Given the description of an element on the screen output the (x, y) to click on. 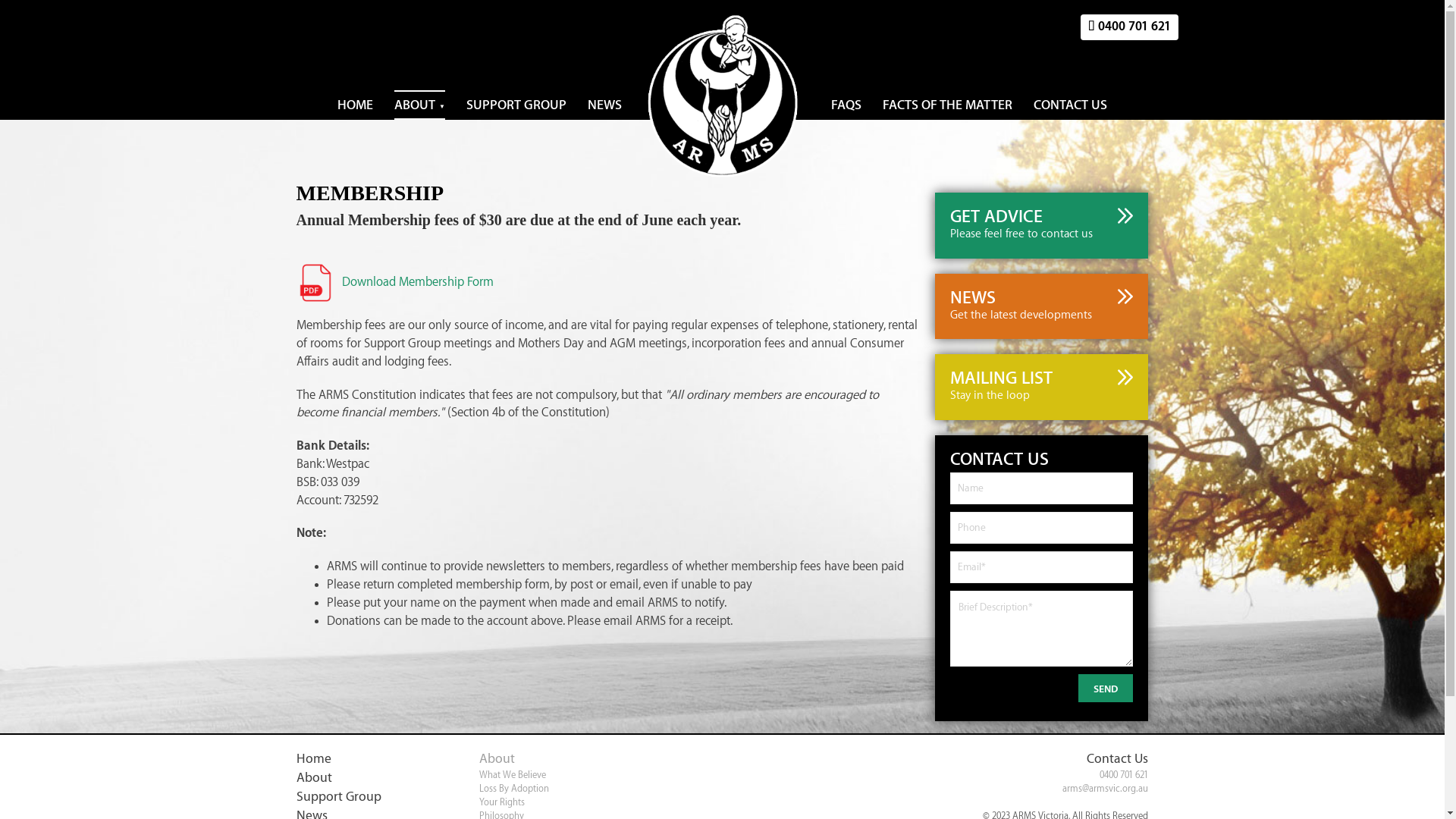
NEWS
Get the latest developments Element type: text (1041, 305)
Loss By Adoption Element type: text (514, 788)
Your Rights Element type: text (501, 802)
ARMS Victoria's Logo Element type: hover (721, 96)
FAQS Element type: text (846, 104)
CONTACT US Element type: text (1070, 104)
Home Element type: text (368, 758)
FACTS OF THE MATTER Element type: text (947, 104)
arms@armsvic.org.au Element type: text (1105, 788)
About Element type: text (496, 758)
What We Believe Element type: text (512, 774)
Support Group Element type: text (368, 796)
SUPPORT GROUP Element type: text (516, 104)
0400 701 621 Element type: text (1123, 774)
MAILING LIST
Stay in the loop Element type: text (1041, 386)
HOME Element type: text (355, 104)
NEWS Element type: text (604, 104)
About Element type: text (368, 777)
Send Element type: text (1105, 688)
GET ADVICE
Please feel free to contact us Element type: text (1041, 224)
Download Membership Form Element type: text (394, 281)
